Given the description of an element on the screen output the (x, y) to click on. 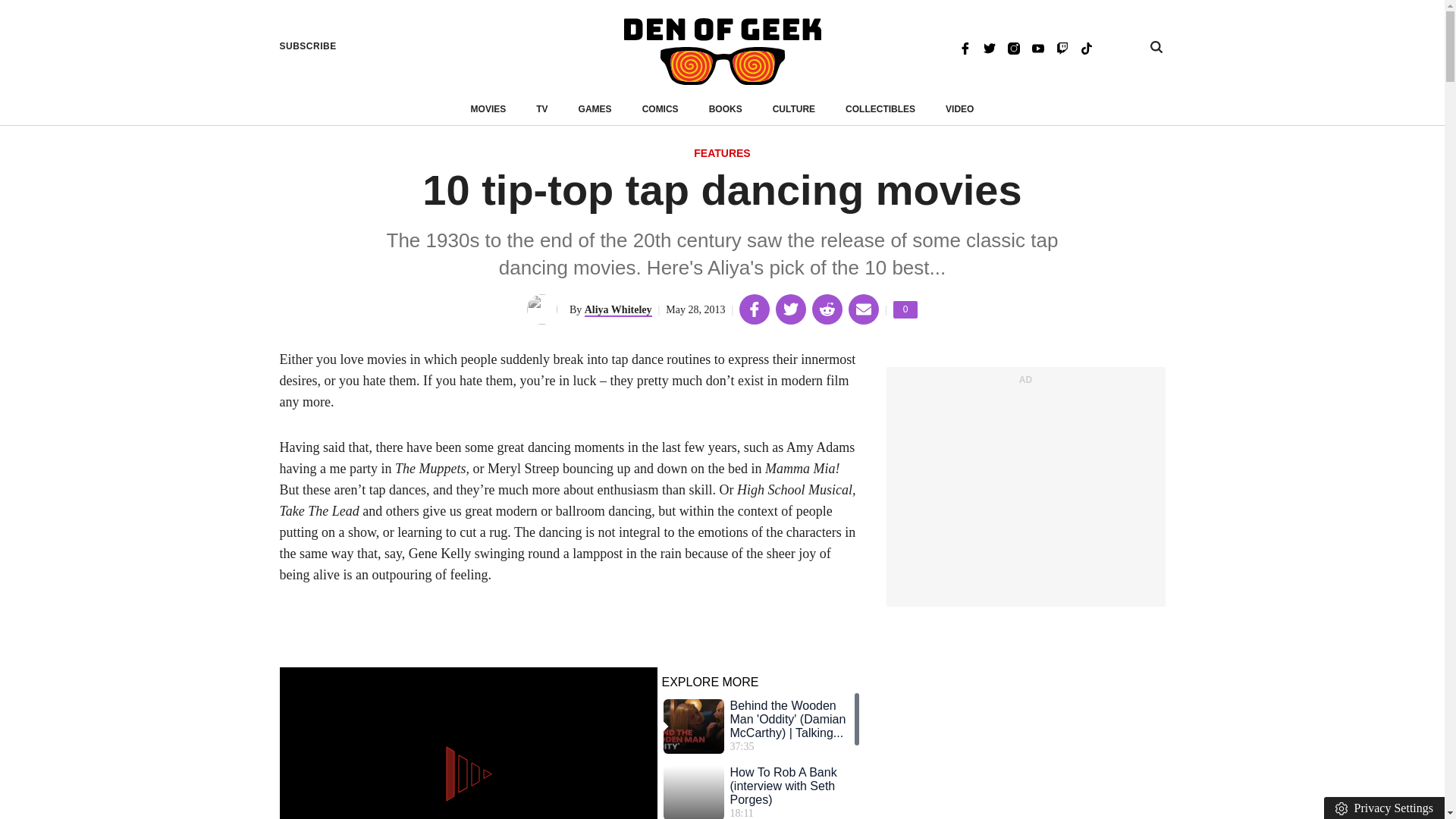
VIDEO (959, 109)
Toggle search (1155, 46)
COLLECTIBLES (880, 109)
FEATURES (721, 153)
TV (541, 109)
Instagram (1013, 46)
Aliya Whiteley (618, 309)
TikTok (1085, 46)
3rd party ad content (1024, 493)
BOOKS (725, 109)
Twitch (1061, 46)
COMICS (660, 109)
CULTURE (794, 109)
Facebook (964, 46)
Twitter (988, 46)
